Given the description of an element on the screen output the (x, y) to click on. 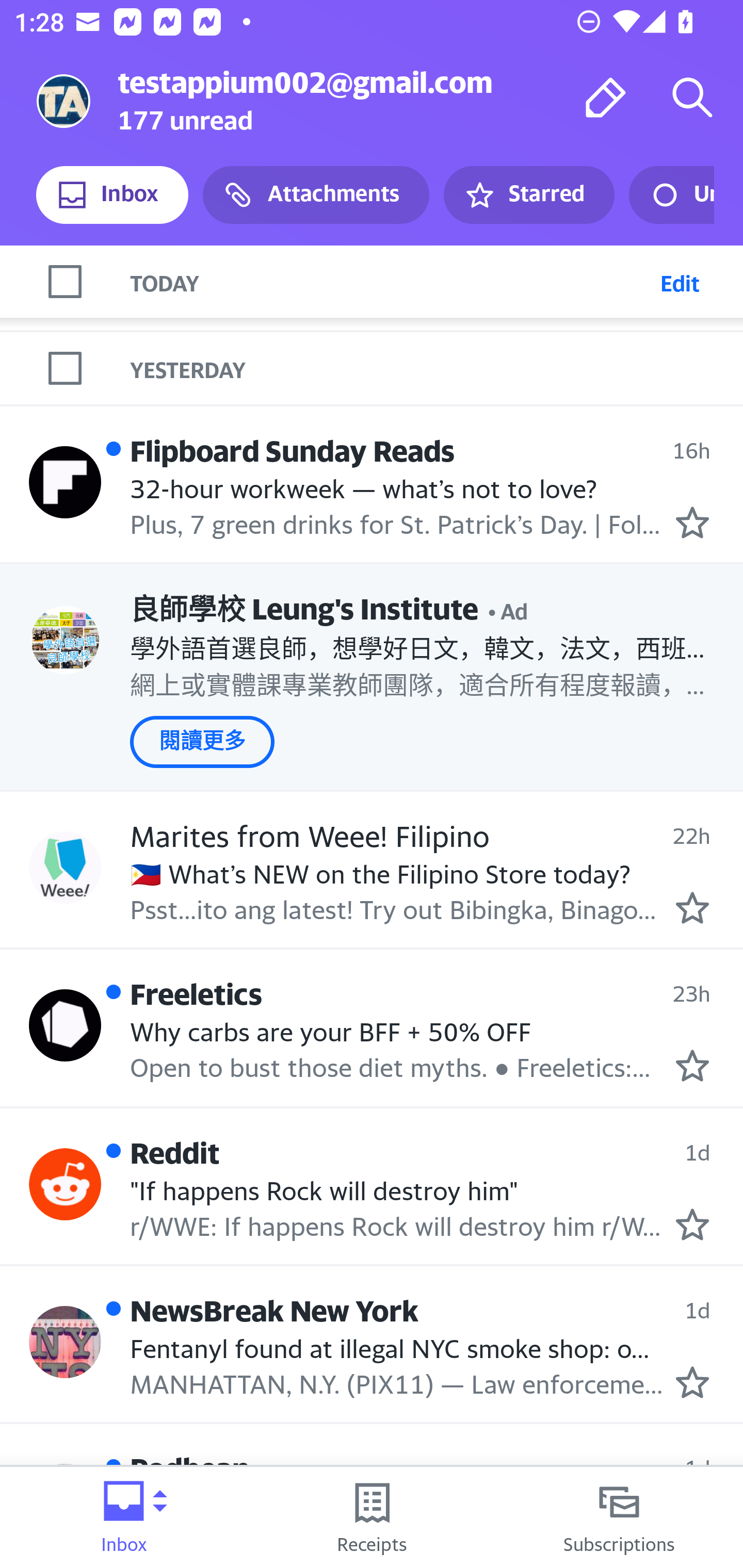
Compose (605, 97)
Search mail (692, 97)
Attachments (315, 195)
Starred (528, 195)
YESTERDAY (436, 367)
Profile
Flipboard Sunday Reads (64, 482)
Mark as starred. (692, 522)
Profile
Marites from Weee! Filipino (64, 867)
Mark as starred. (692, 907)
Profile
Freeletics (64, 1025)
Mark as starred. (692, 1065)
Profile
Reddit (64, 1183)
Mark as starred. (692, 1223)
Profile
NewsBreak New York (64, 1342)
Mark as starred. (692, 1382)
Inbox Folder picker (123, 1517)
Receipts (371, 1517)
Subscriptions (619, 1517)
